Given the description of an element on the screen output the (x, y) to click on. 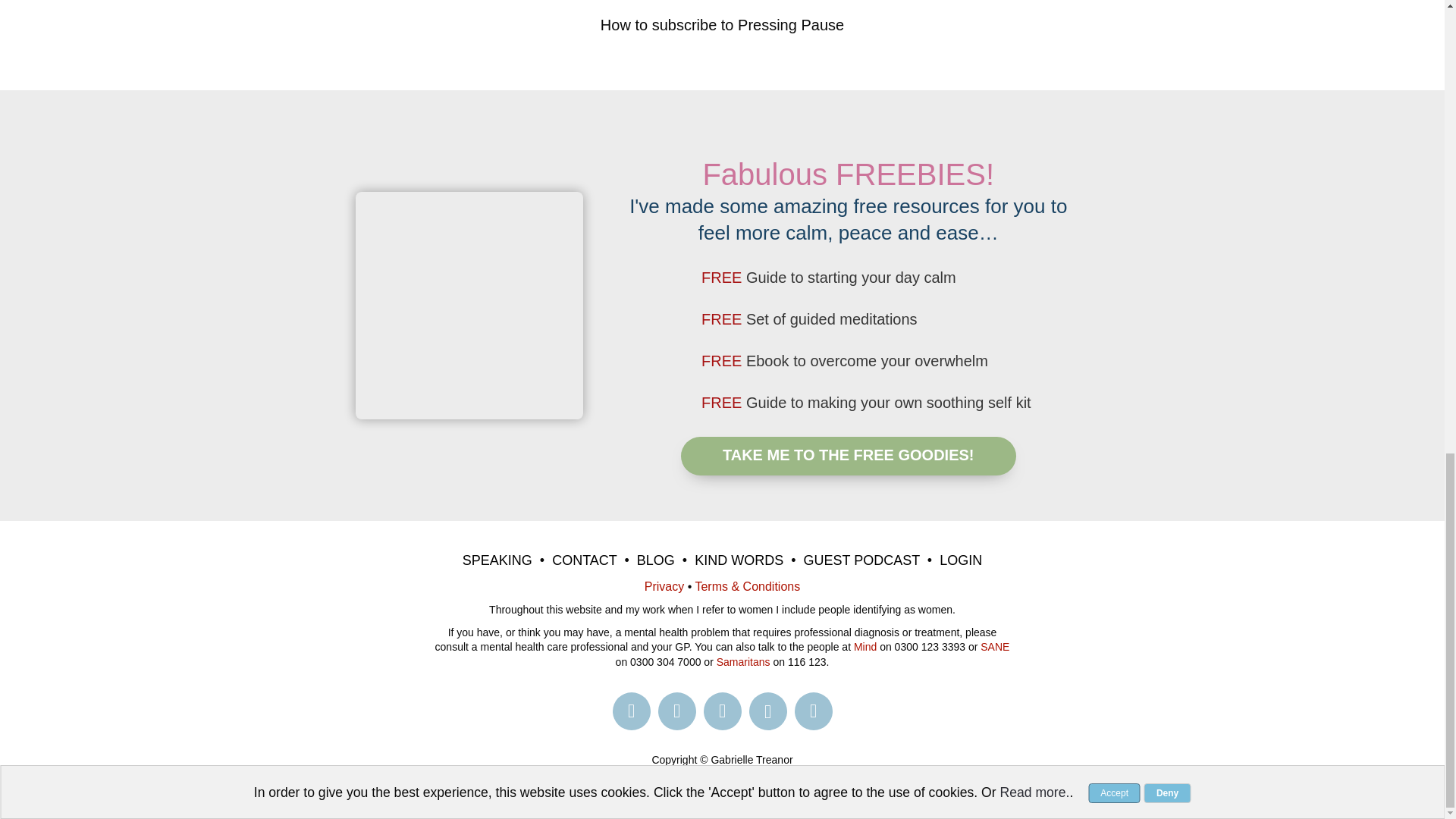
SPEAKING (497, 560)
How to subscribe to Pressing Pause (721, 24)
gabrielle april 2021 (469, 305)
TAKE ME TO THE FREE GOODIES! (848, 455)
